Given the description of an element on the screen output the (x, y) to click on. 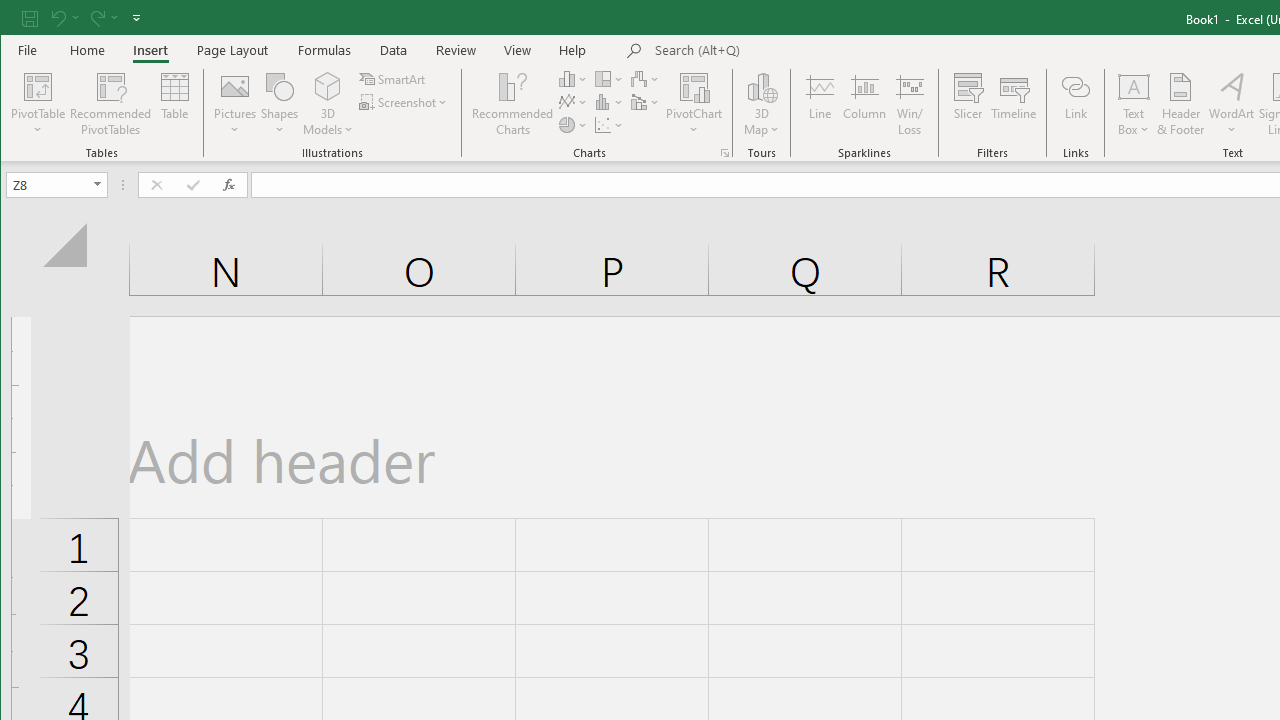
Recommended Charts (724, 152)
Draw Horizontal Text Box (1133, 86)
Insert Statistic Chart (609, 101)
Insert Pie or Doughnut Chart (573, 124)
Link (1075, 104)
PivotTable (37, 86)
3D Models (327, 86)
Slicer... (968, 104)
